Given the description of an element on the screen output the (x, y) to click on. 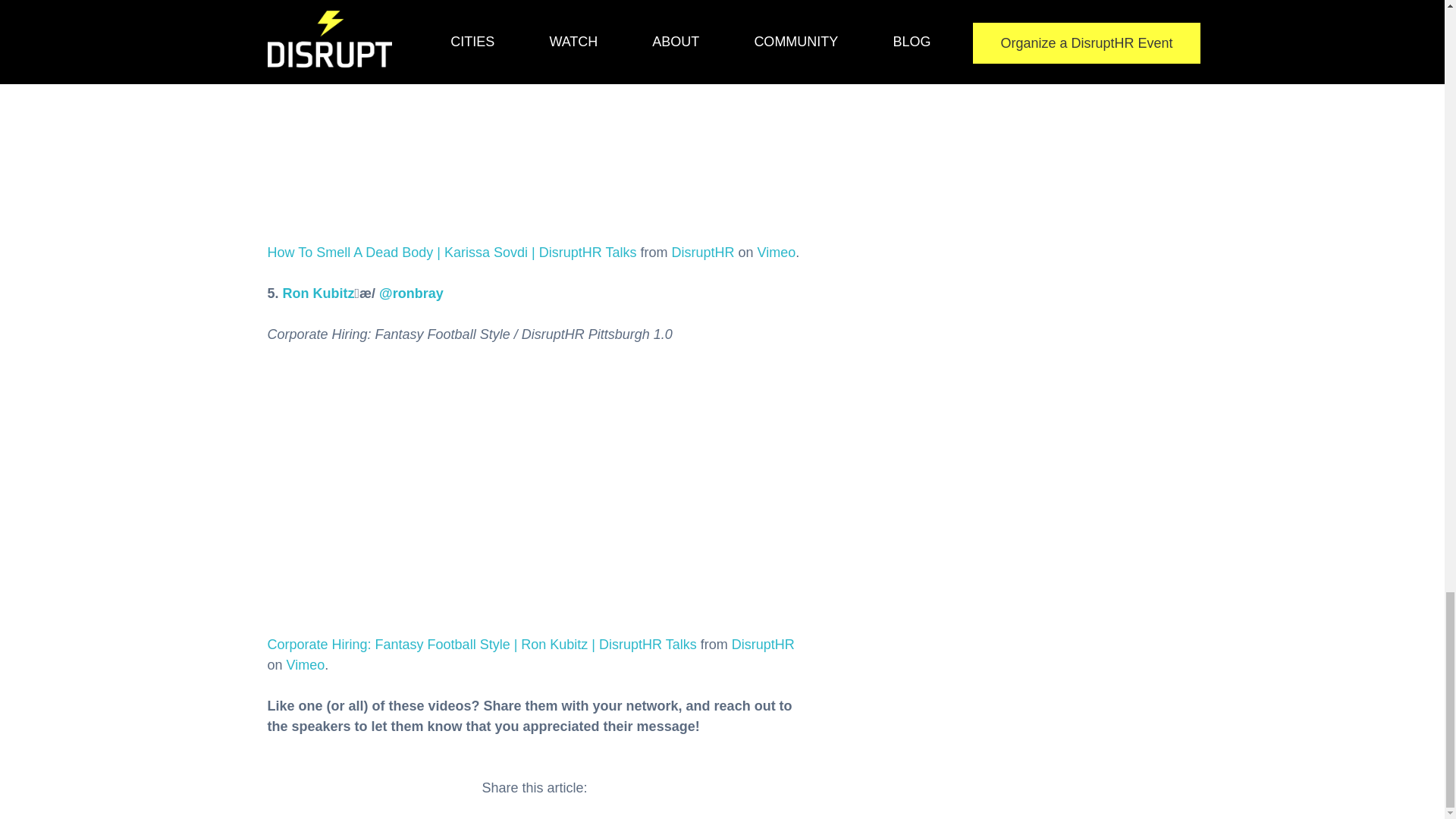
Vimeo (775, 252)
Ron Kubitz (318, 293)
DisruptHR (702, 252)
